Given the description of an element on the screen output the (x, y) to click on. 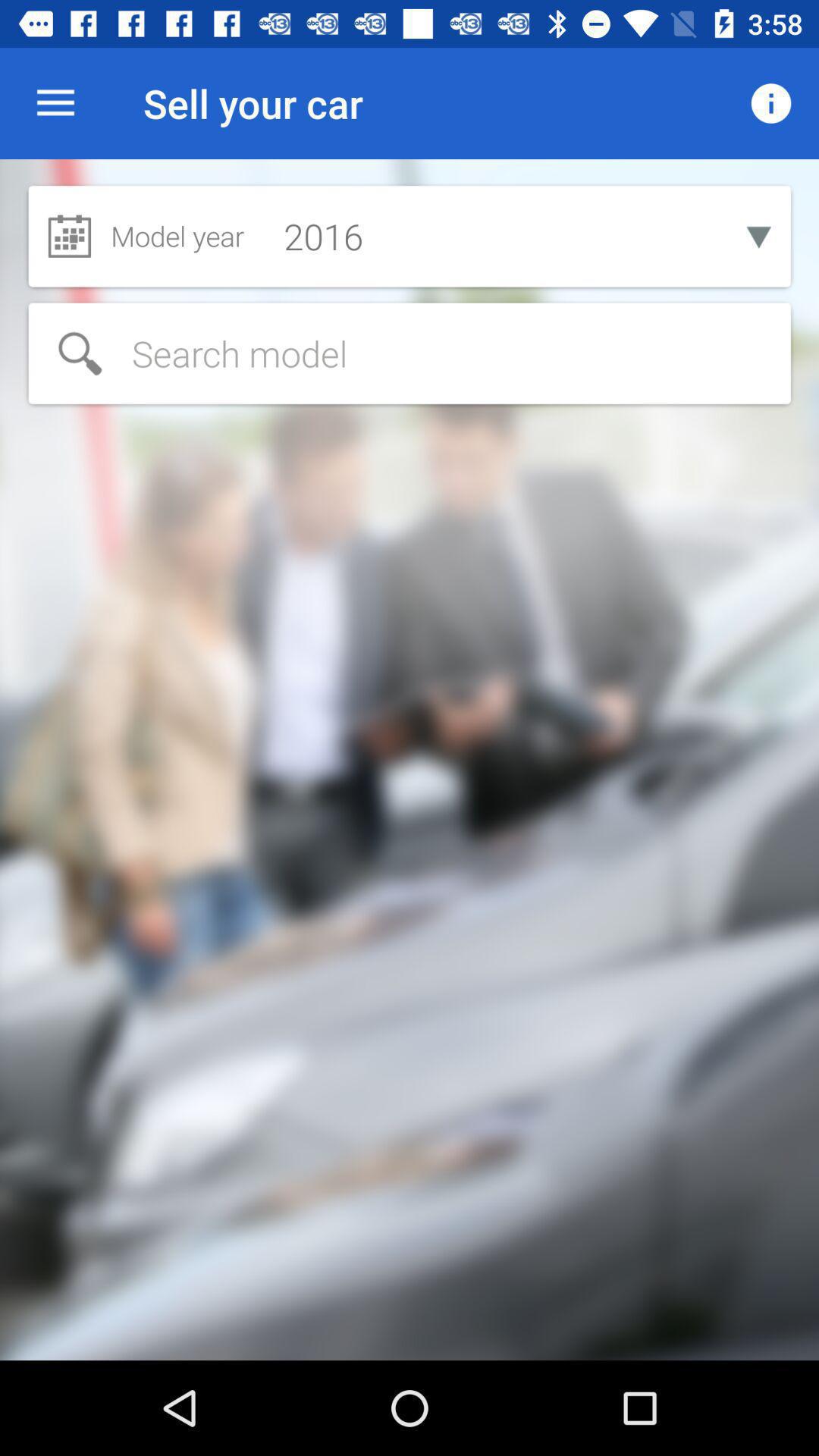
tap item to the left of sell your car icon (55, 103)
